Given the description of an element on the screen output the (x, y) to click on. 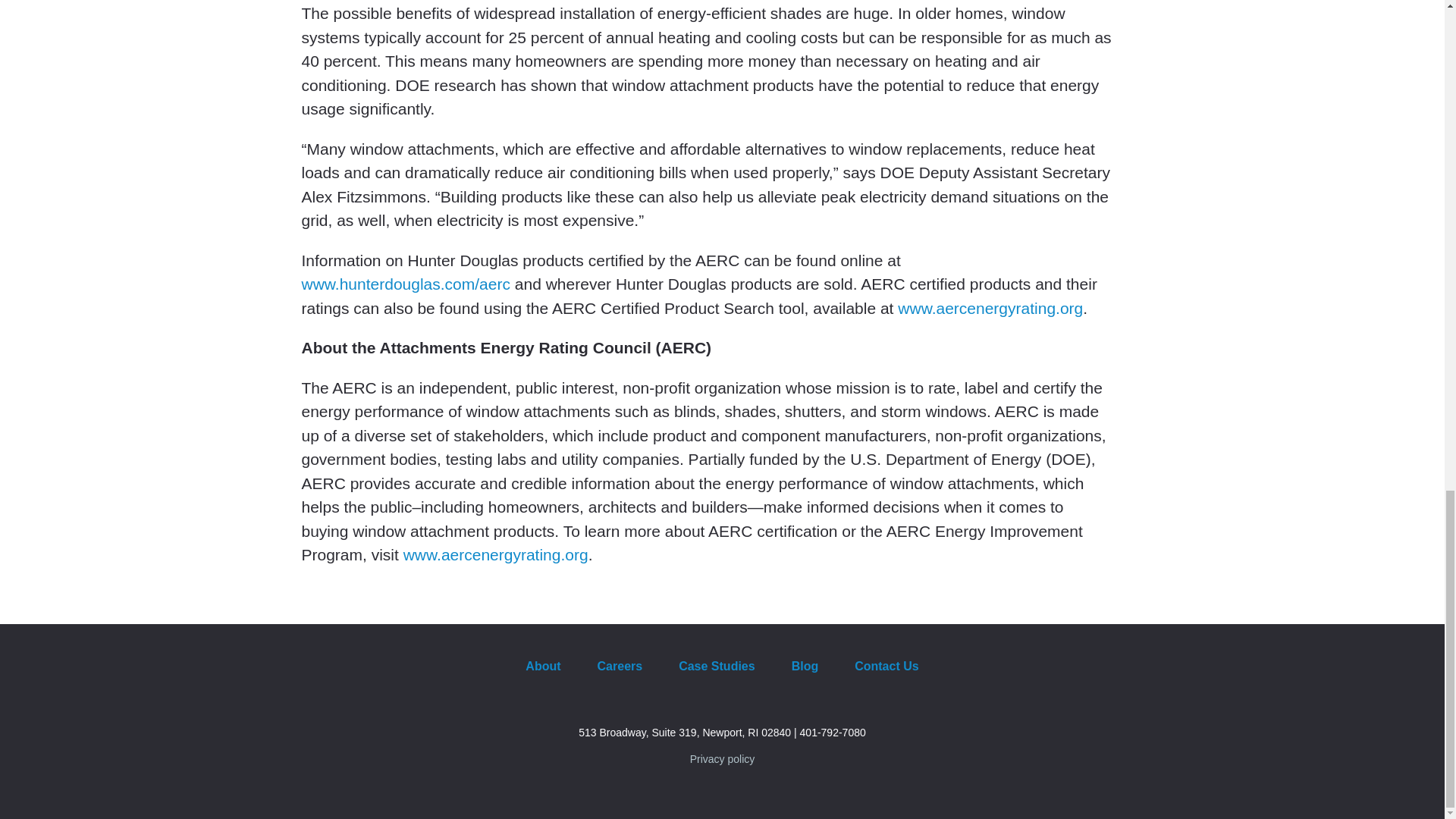
About (542, 666)
Contact Us (885, 666)
www.aercenergyrating.org (495, 554)
Case Studies (717, 666)
Careers (620, 666)
Blog (805, 666)
www.aercenergyrating.org (990, 307)
